Given the description of an element on the screen output the (x, y) to click on. 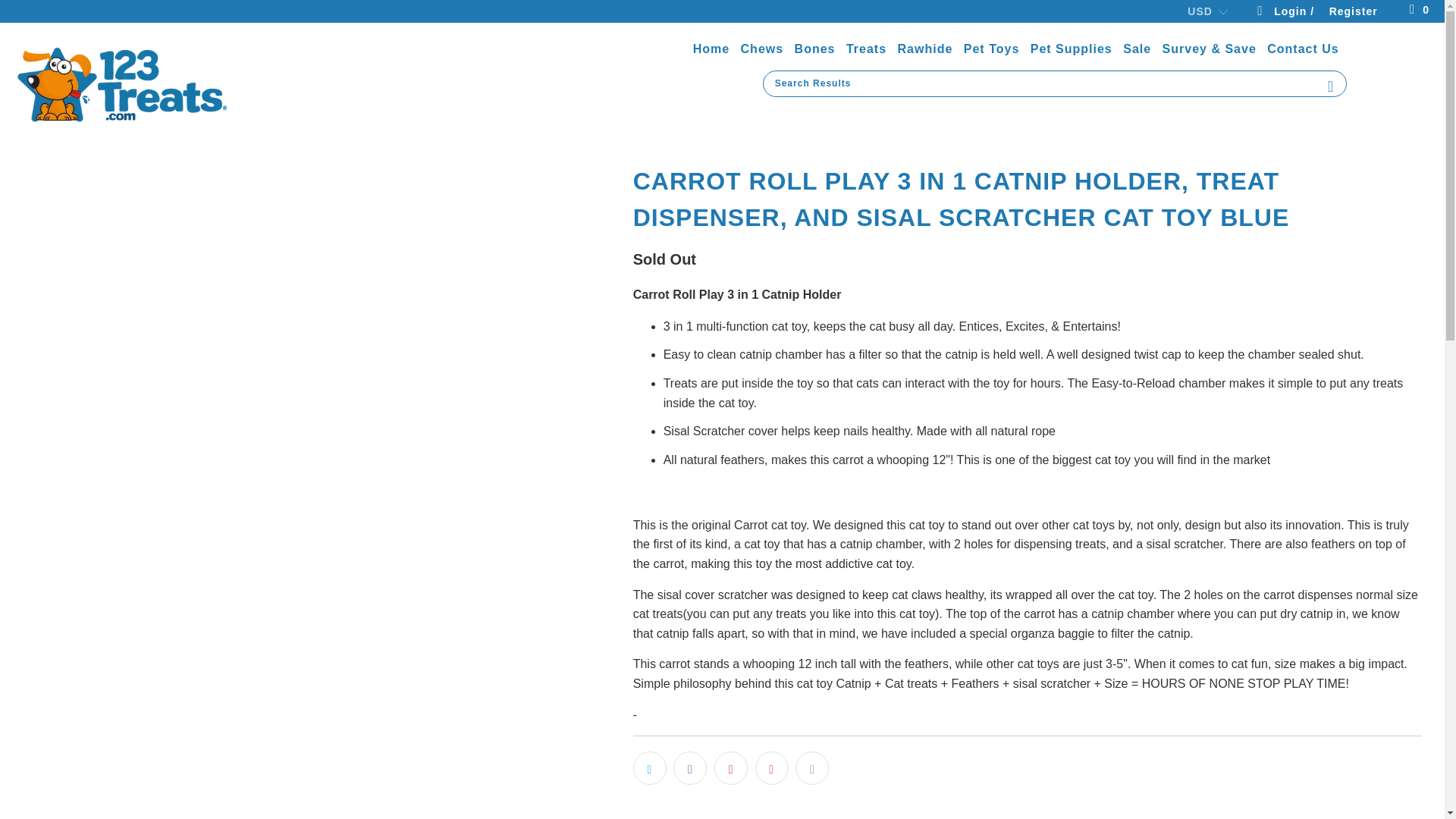
Bones (814, 48)
Treats (865, 48)
Pet Toys (991, 48)
Contact Us (1302, 48)
Home (711, 48)
123treats (122, 83)
Rawhide (925, 48)
Register (1352, 13)
Email this to a friend (811, 767)
Share this on Twitter (649, 767)
